Given the description of an element on the screen output the (x, y) to click on. 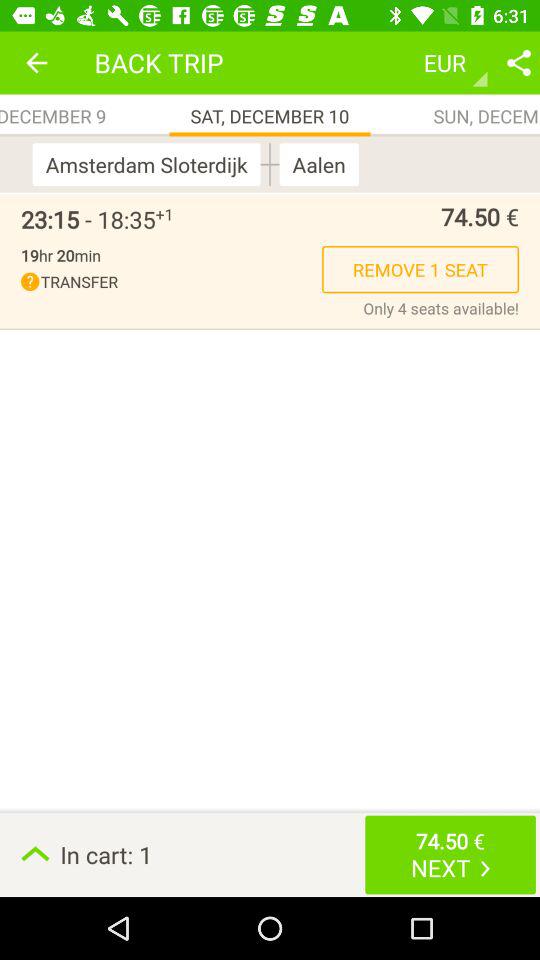
turn on the icon to the left of the remove 1 seat item (171, 281)
